Given the description of an element on the screen output the (x, y) to click on. 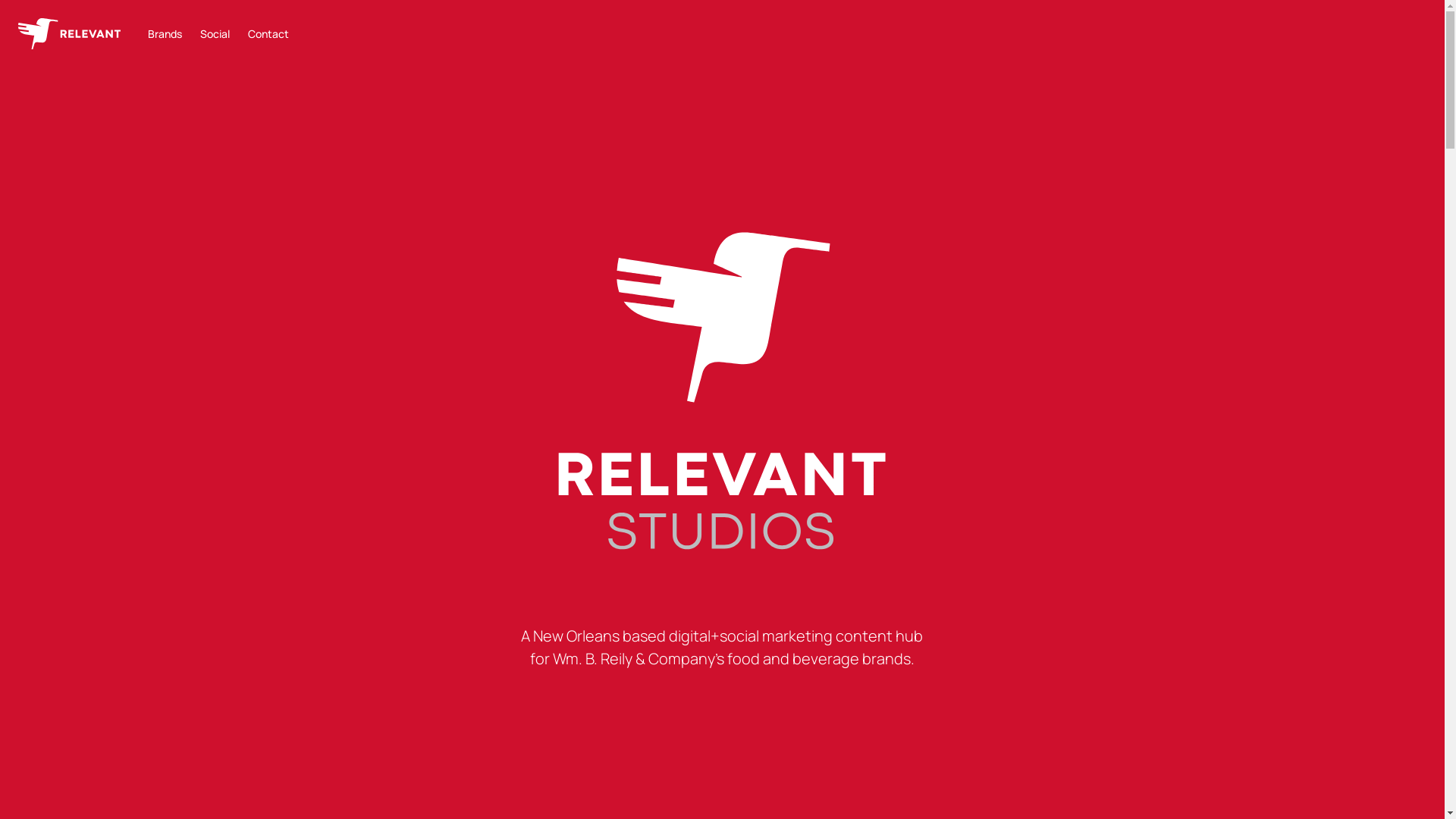
Contact Element type: text (268, 33)
Social Element type: text (214, 33)
Brands Element type: text (164, 33)
